Given the description of an element on the screen output the (x, y) to click on. 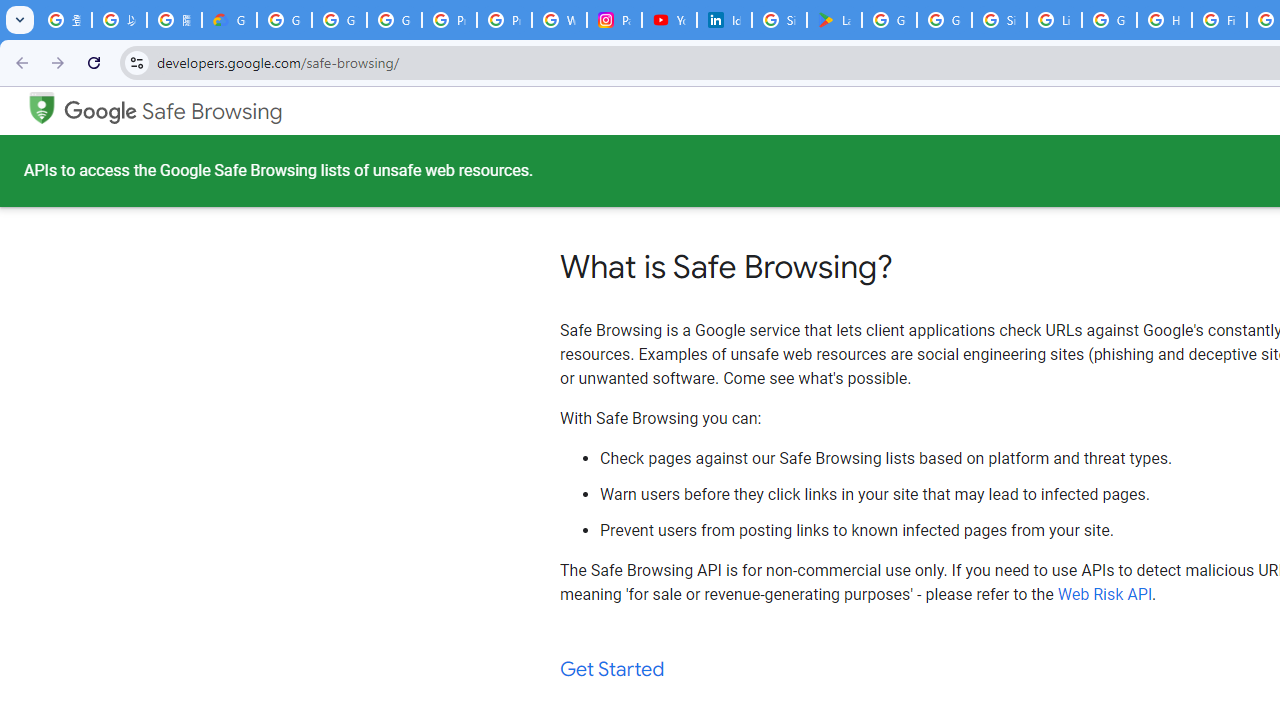
Last Shelter: Survival - Apps on Google Play (833, 20)
Google Workspace - Specific Terms (943, 20)
Google (101, 111)
Get Started (612, 669)
